Given the description of an element on the screen output the (x, y) to click on. 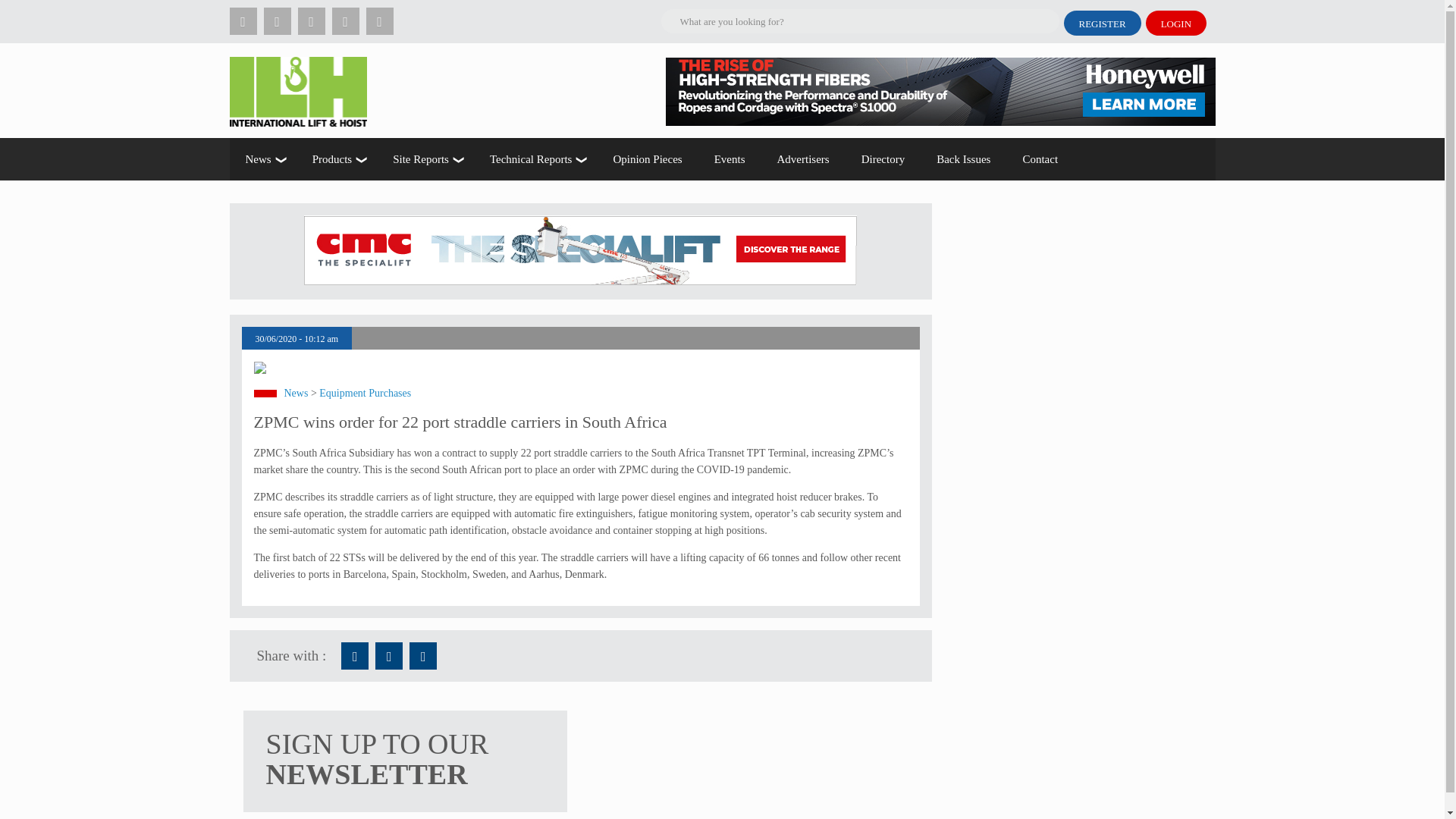
REGISTER (1101, 23)
Lift and Hoist Australia  LinkedIn (422, 655)
Lift and Hoist Australia  Facebook (354, 655)
Site Reports (425, 159)
LOGIN (1176, 23)
Search (198, 12)
News (261, 159)
Products (337, 159)
